Given the description of an element on the screen output the (x, y) to click on. 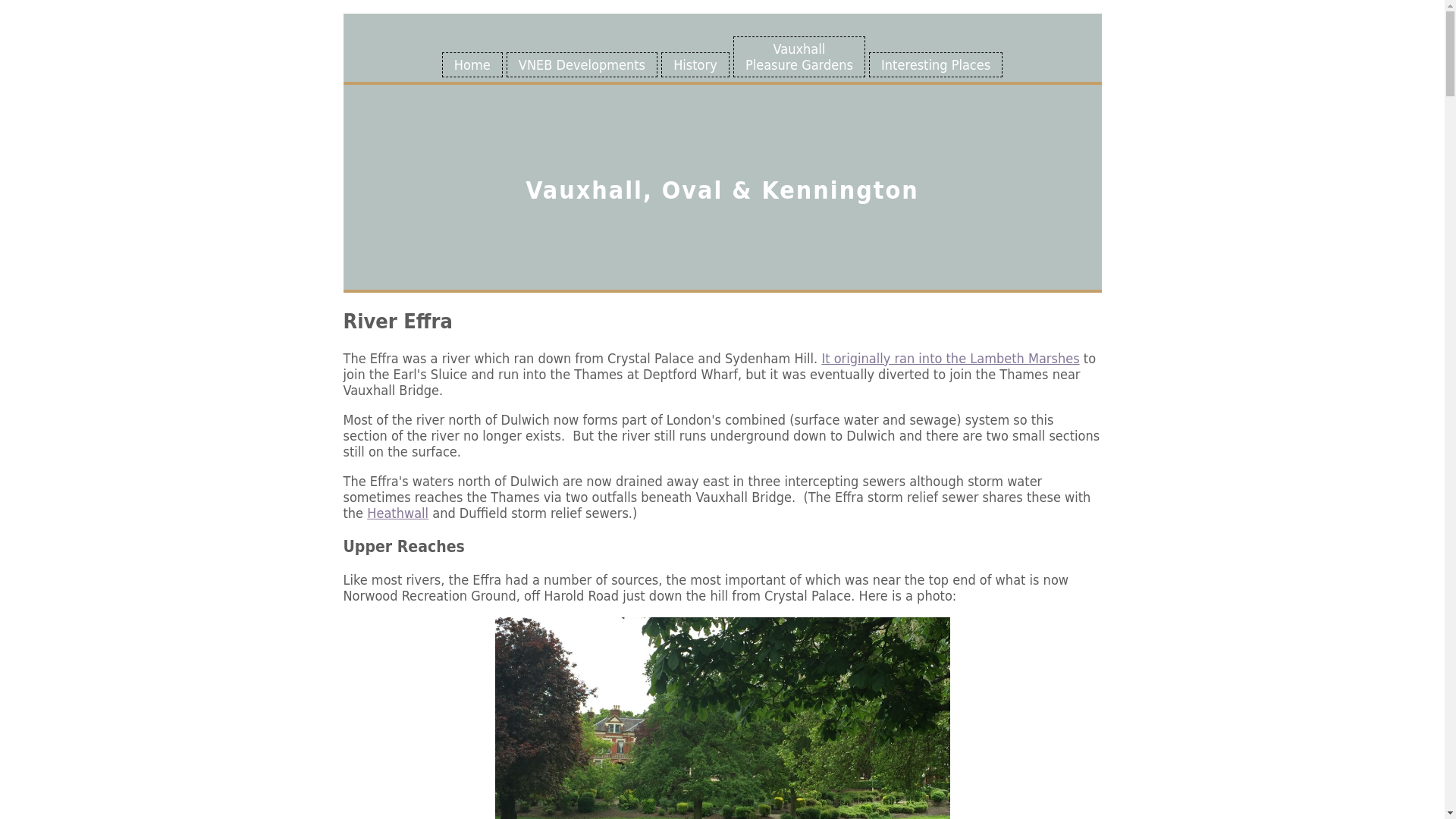
VNEB Developments (582, 64)
It originally ran into the Lambeth Marshes (949, 358)
Home (472, 64)
Heathwall (397, 512)
History (695, 64)
Interesting Places (798, 56)
